Given the description of an element on the screen output the (x, y) to click on. 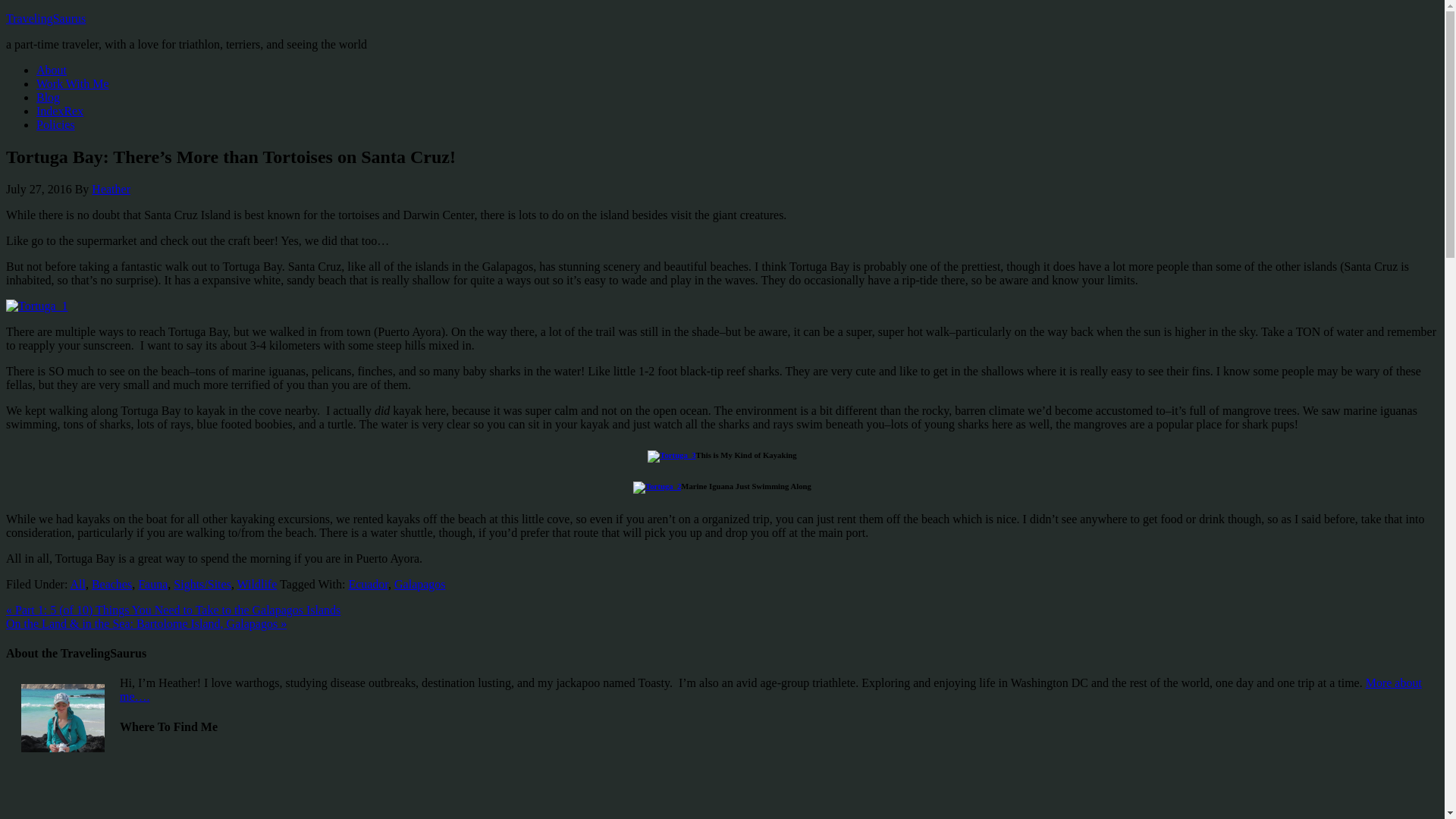
Wildlife (257, 584)
Beaches (111, 584)
Policies (55, 124)
Fauna (152, 584)
Galapagos (419, 584)
IndexRex (59, 110)
Heather (111, 188)
TravelingSaurus (45, 18)
Email (242, 784)
Ecuador (367, 584)
